Given the description of an element on the screen output the (x, y) to click on. 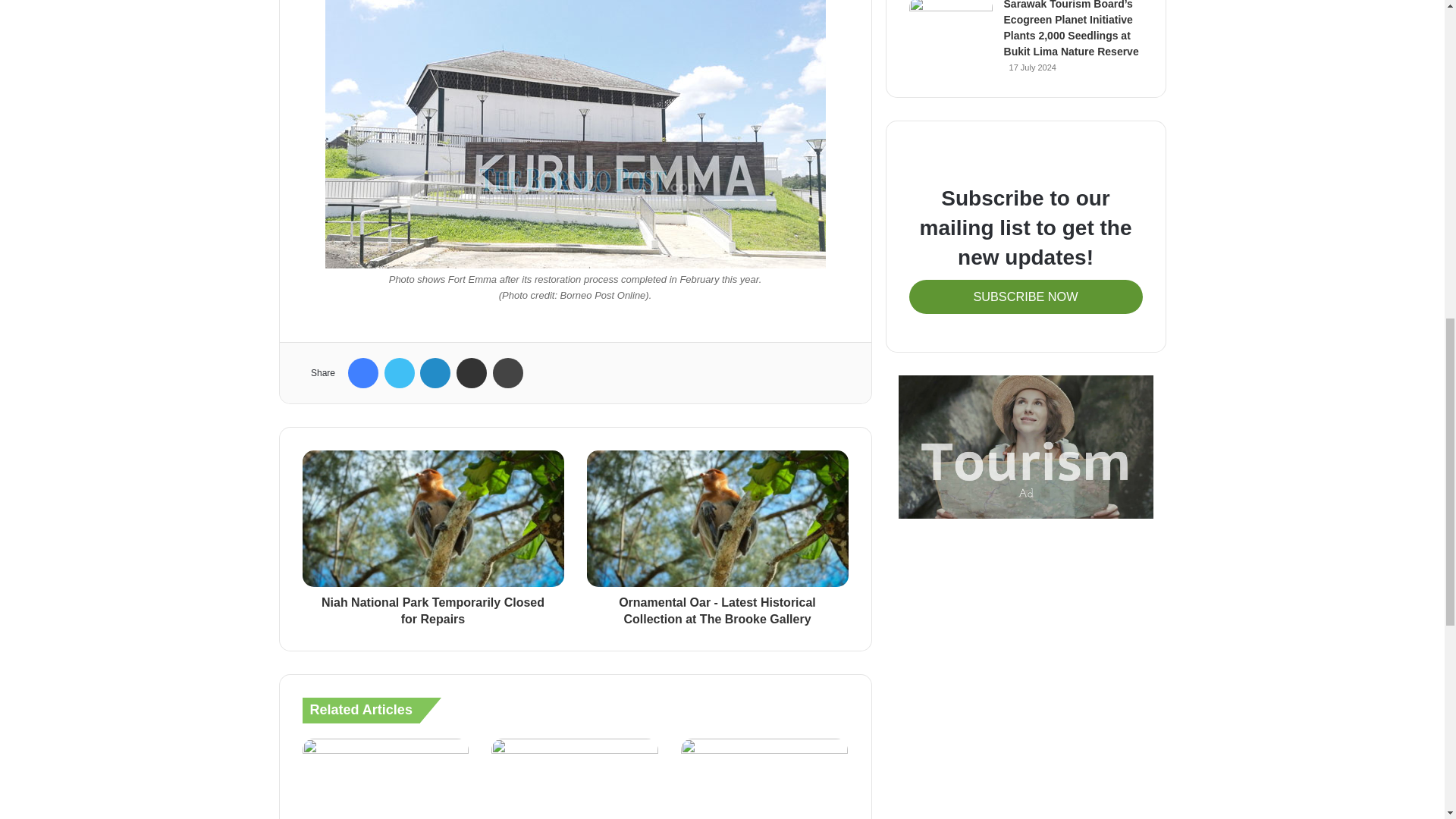
Twitter (399, 372)
Facebook (362, 372)
LinkedIn (434, 372)
Share via Email (471, 372)
Facebook (362, 372)
Print (507, 372)
Niah National Park Temporarily Closed for Repairs (432, 607)
Share via Email (471, 372)
Print (507, 372)
